Given the description of an element on the screen output the (x, y) to click on. 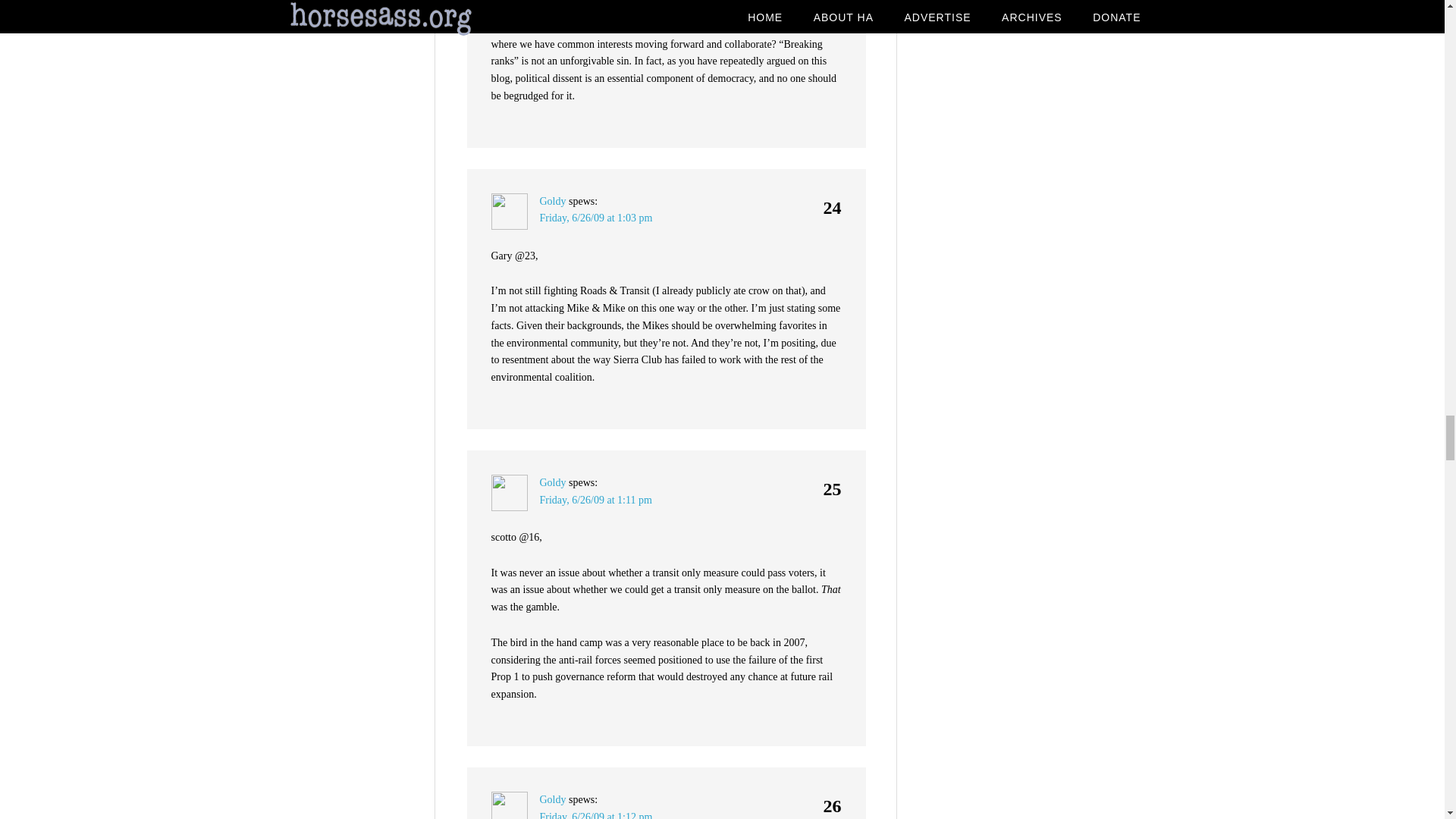
Goldy (553, 201)
